Given the description of an element on the screen output the (x, y) to click on. 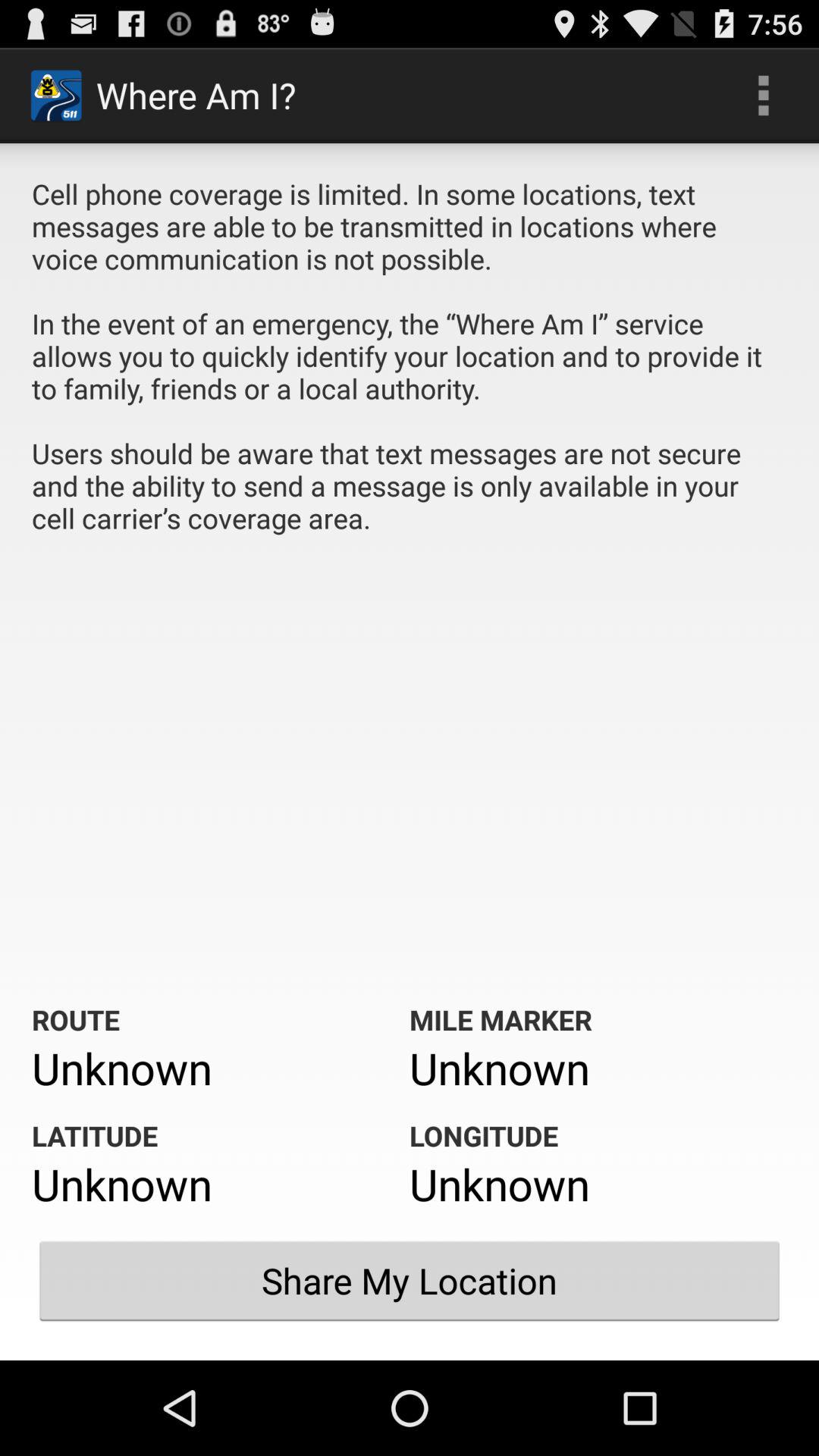
turn on the icon above the cell phone coverage app (763, 95)
